Given the description of an element on the screen output the (x, y) to click on. 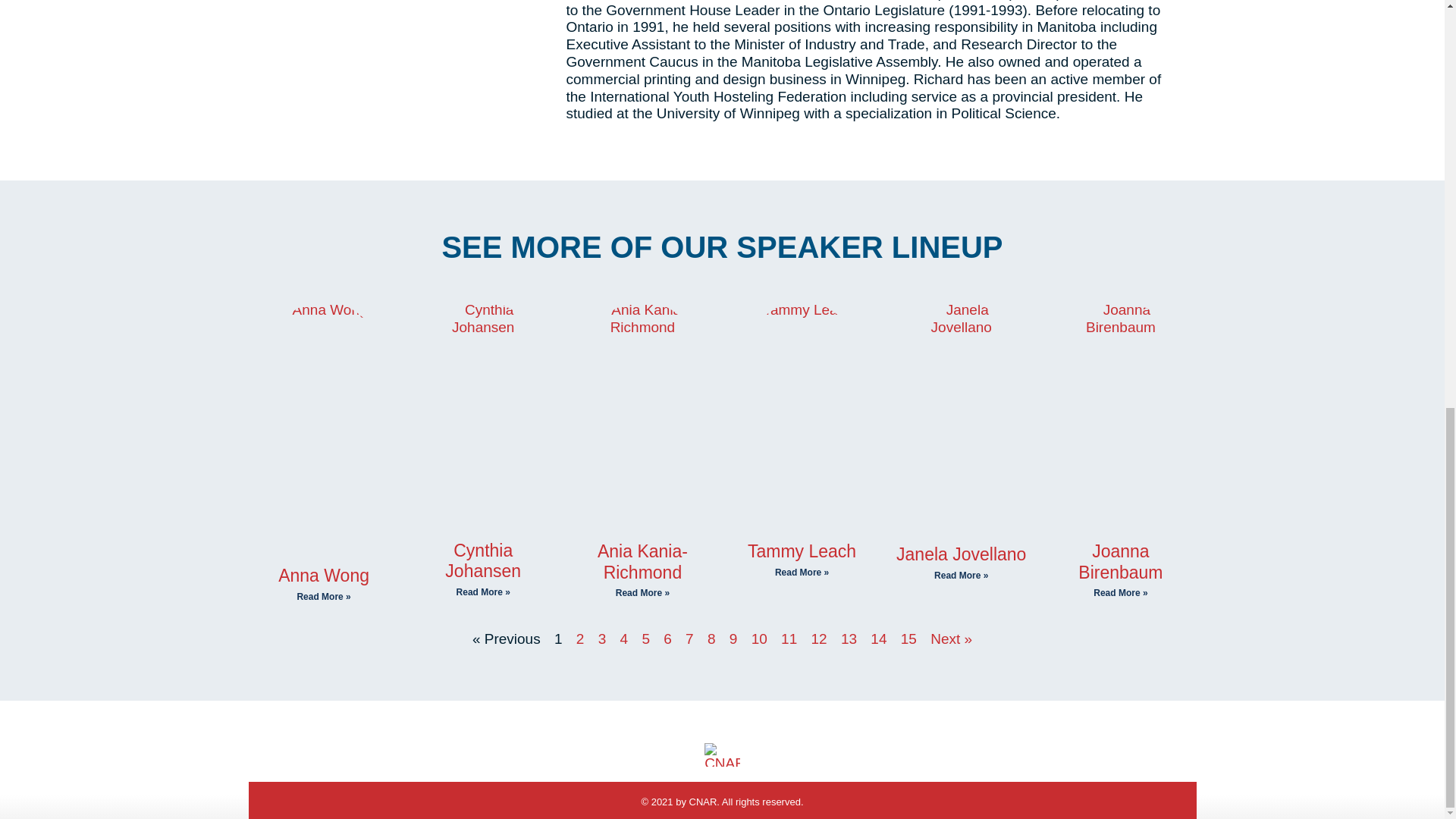
Ania Kania-Richmond (641, 561)
11 (788, 638)
13 (849, 638)
Cynthia Johansen (483, 560)
Joanna Birenbaum (1119, 561)
Janela Jovellano (961, 554)
14 (878, 638)
Anna Wong (323, 575)
15 (909, 638)
10 (759, 638)
